Given the description of an element on the screen output the (x, y) to click on. 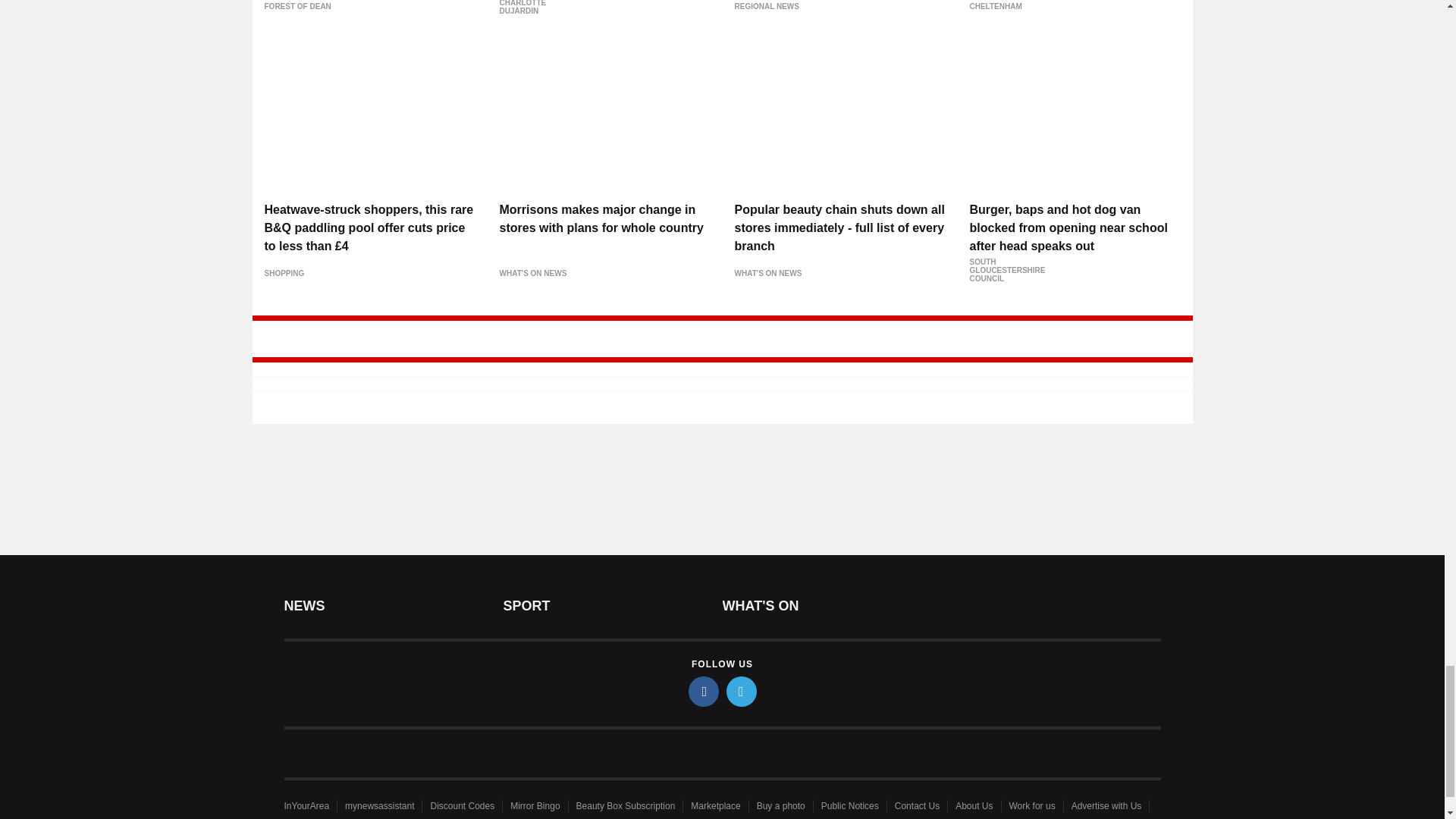
twitter (741, 691)
facebook (703, 691)
